Given the description of an element on the screen output the (x, y) to click on. 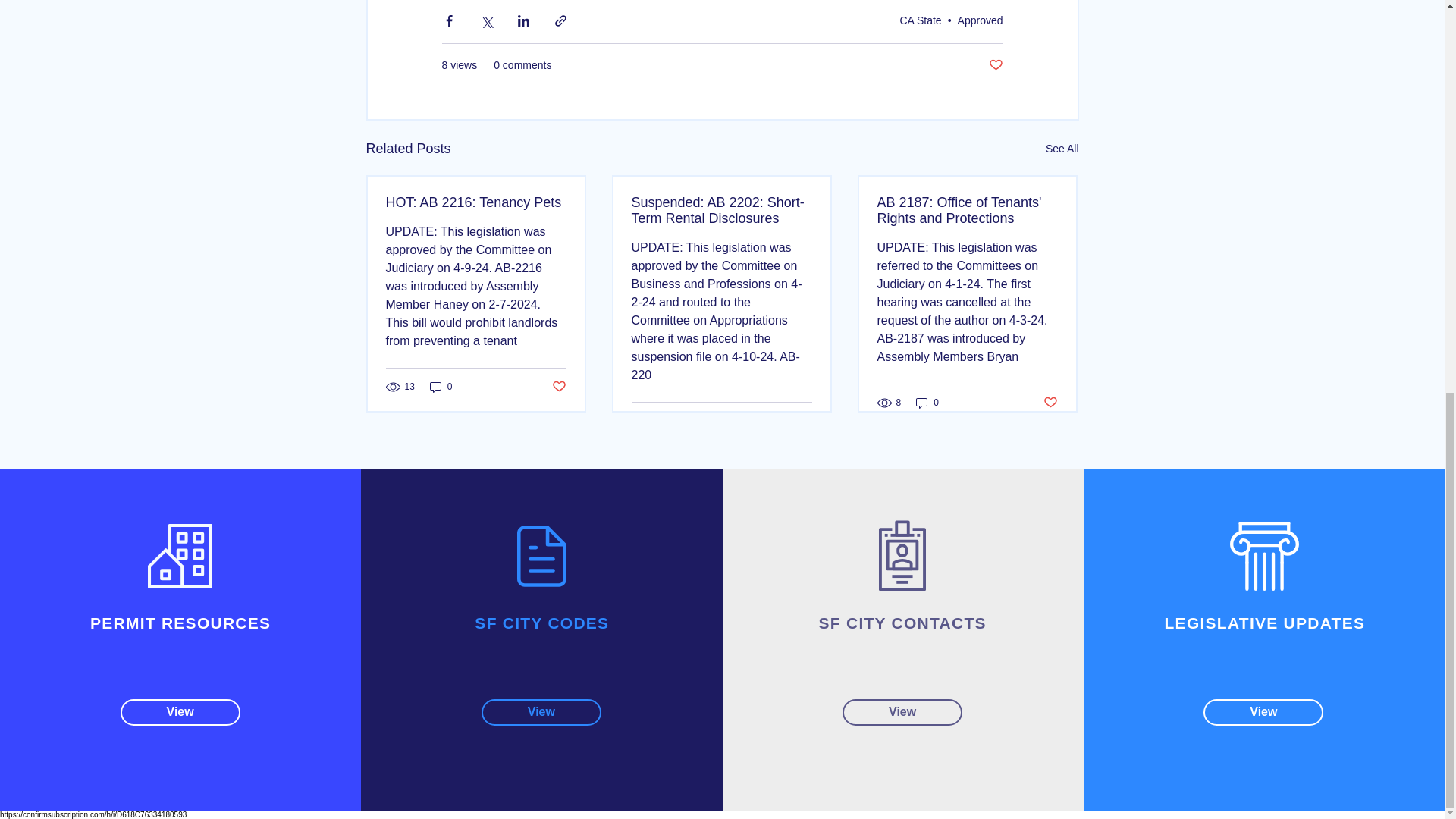
HOT: AB 2216: Tenancy Pets (475, 202)
Suspended: AB 2202: Short-Term Rental Disclosures (720, 210)
Post not marked as liked (1050, 402)
View (541, 712)
AB 2187: Office of Tenants' Rights and Protections (966, 210)
Post not marked as liked (558, 385)
CA State (919, 20)
See All (1061, 148)
Approved (980, 20)
View (180, 712)
Post not marked as liked (995, 65)
0 (927, 401)
0 (441, 386)
